Given the description of an element on the screen output the (x, y) to click on. 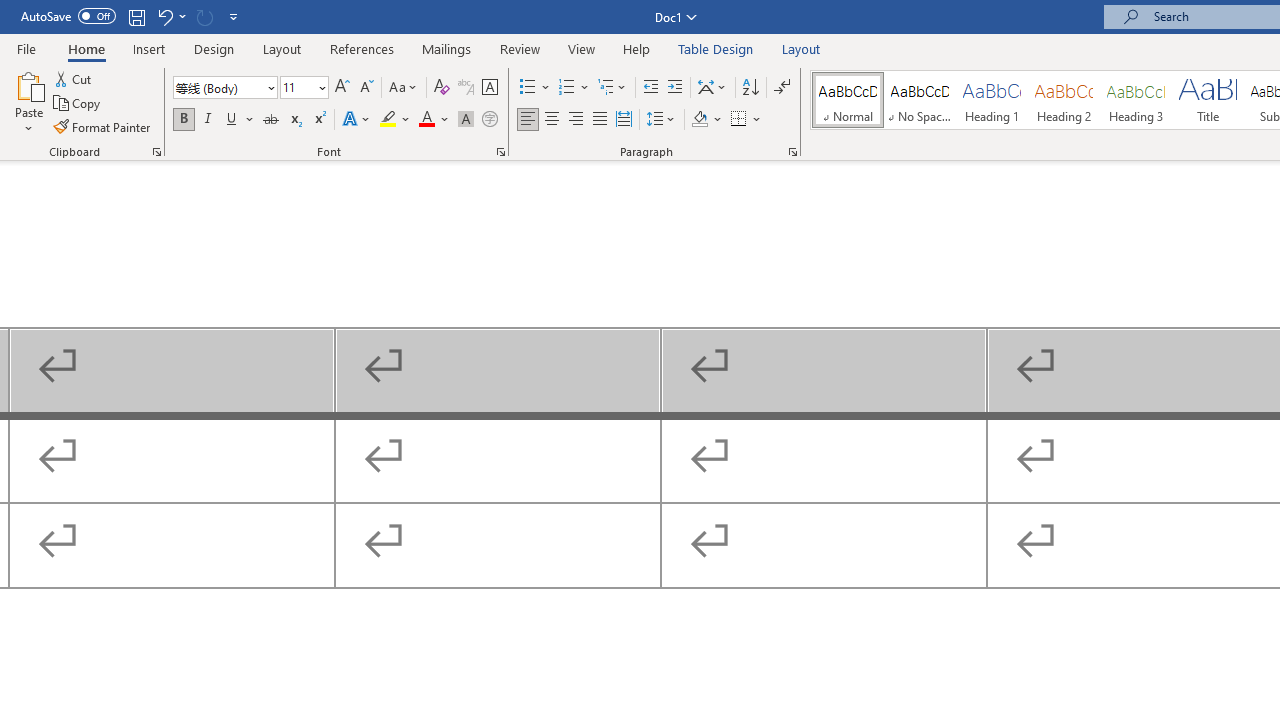
Undo Outline Move Up (170, 15)
Undo Outline Move Up (164, 15)
